Given the description of an element on the screen output the (x, y) to click on. 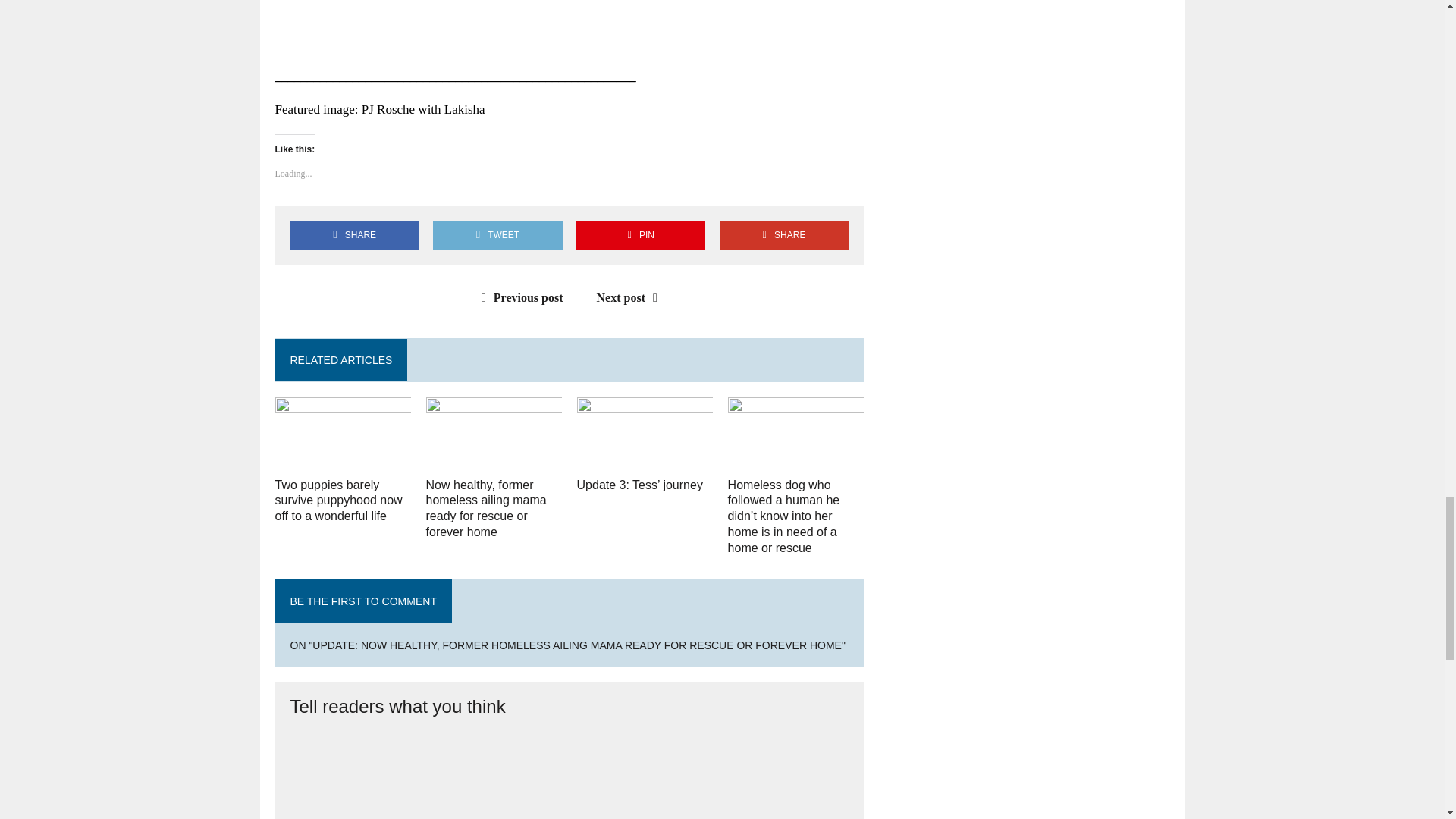
TWEET (497, 235)
Next post (630, 297)
Previous post (518, 297)
Pin This Post (640, 235)
PIN (640, 235)
Share on Facebook (354, 235)
SHARE (354, 235)
Tweet This Post (497, 235)
SHARE (783, 235)
